Given the description of an element on the screen output the (x, y) to click on. 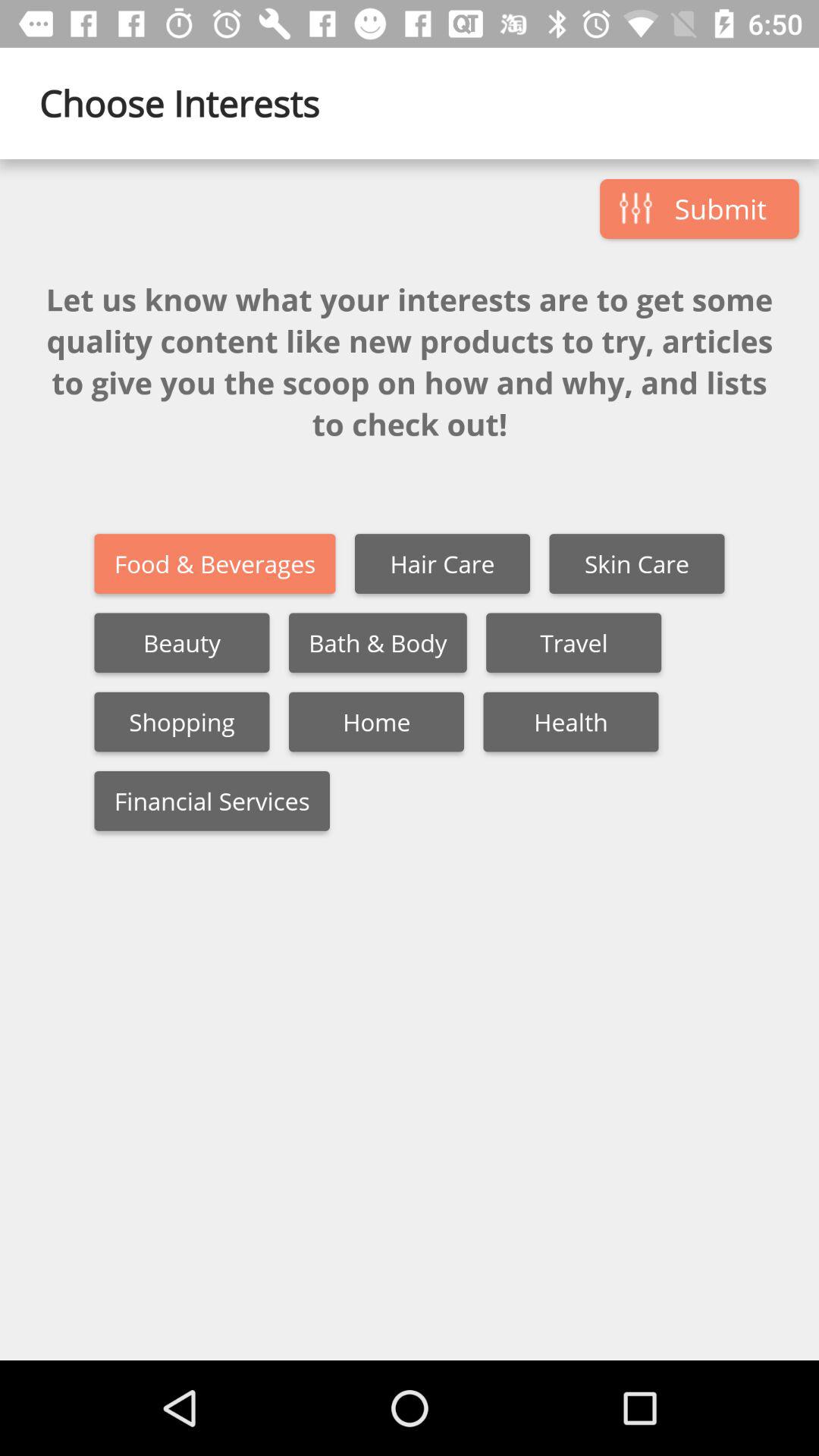
scroll to the hair care (442, 563)
